Given the description of an element on the screen output the (x, y) to click on. 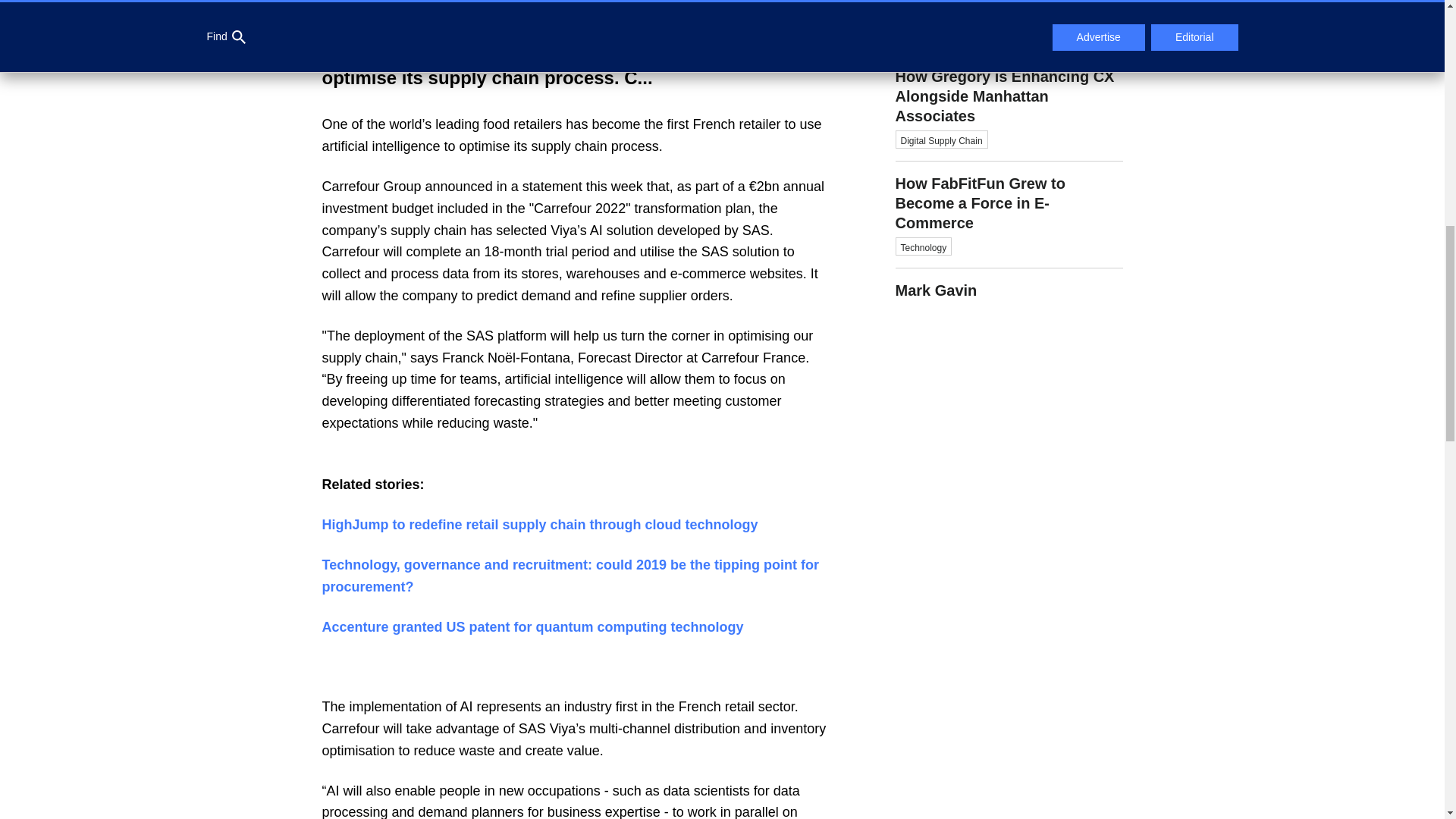
Accenture granted US patent for quantum computing technology (531, 626)
Mark Gavin (1008, 284)
